Given the description of an element on the screen output the (x, y) to click on. 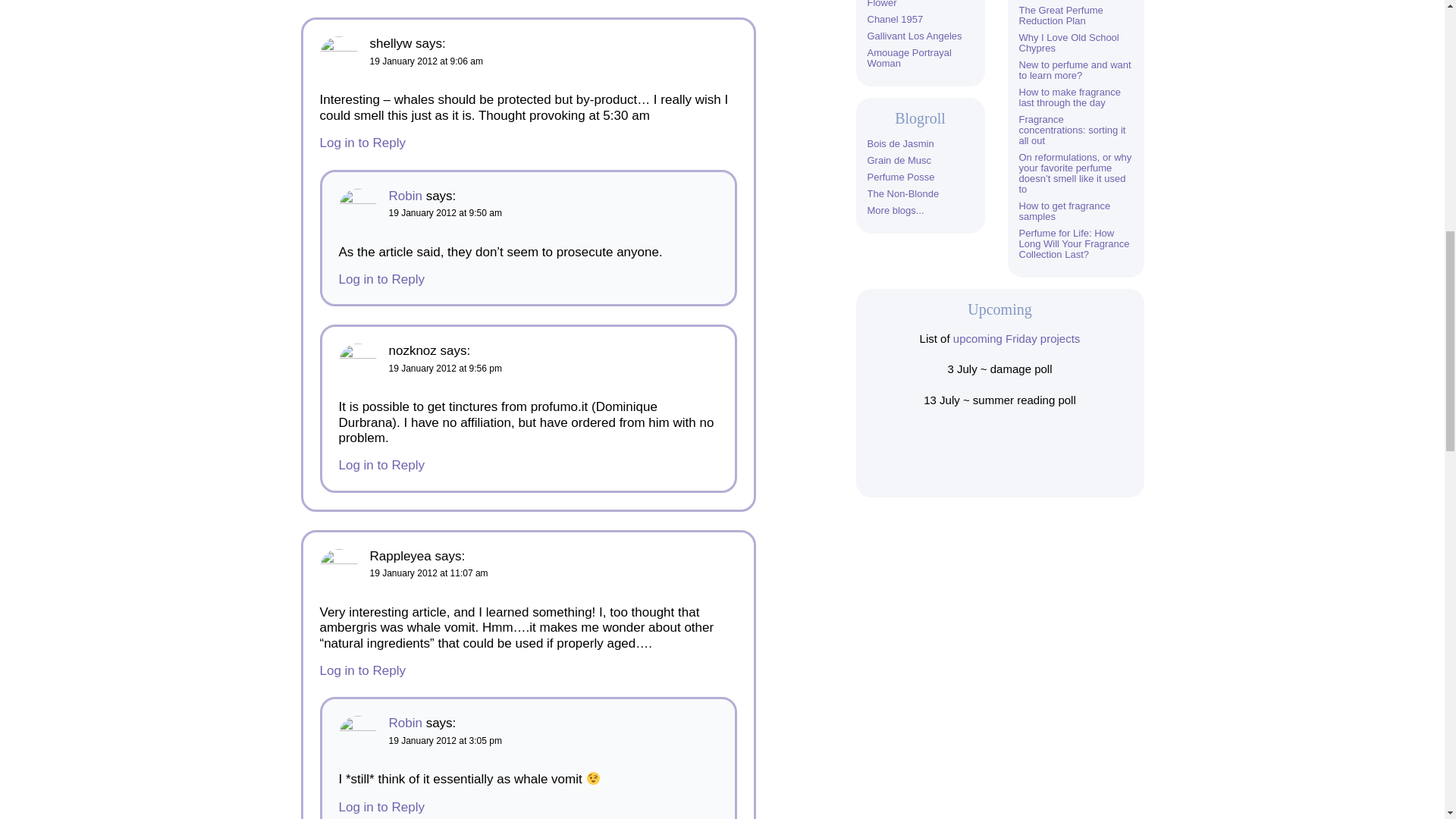
Log in to Reply (380, 807)
Log in to Reply (363, 670)
Robin (405, 722)
Log in to Reply (363, 142)
Robin (405, 196)
Log in to Reply (380, 464)
Log in to Reply (380, 278)
